Given the description of an element on the screen output the (x, y) to click on. 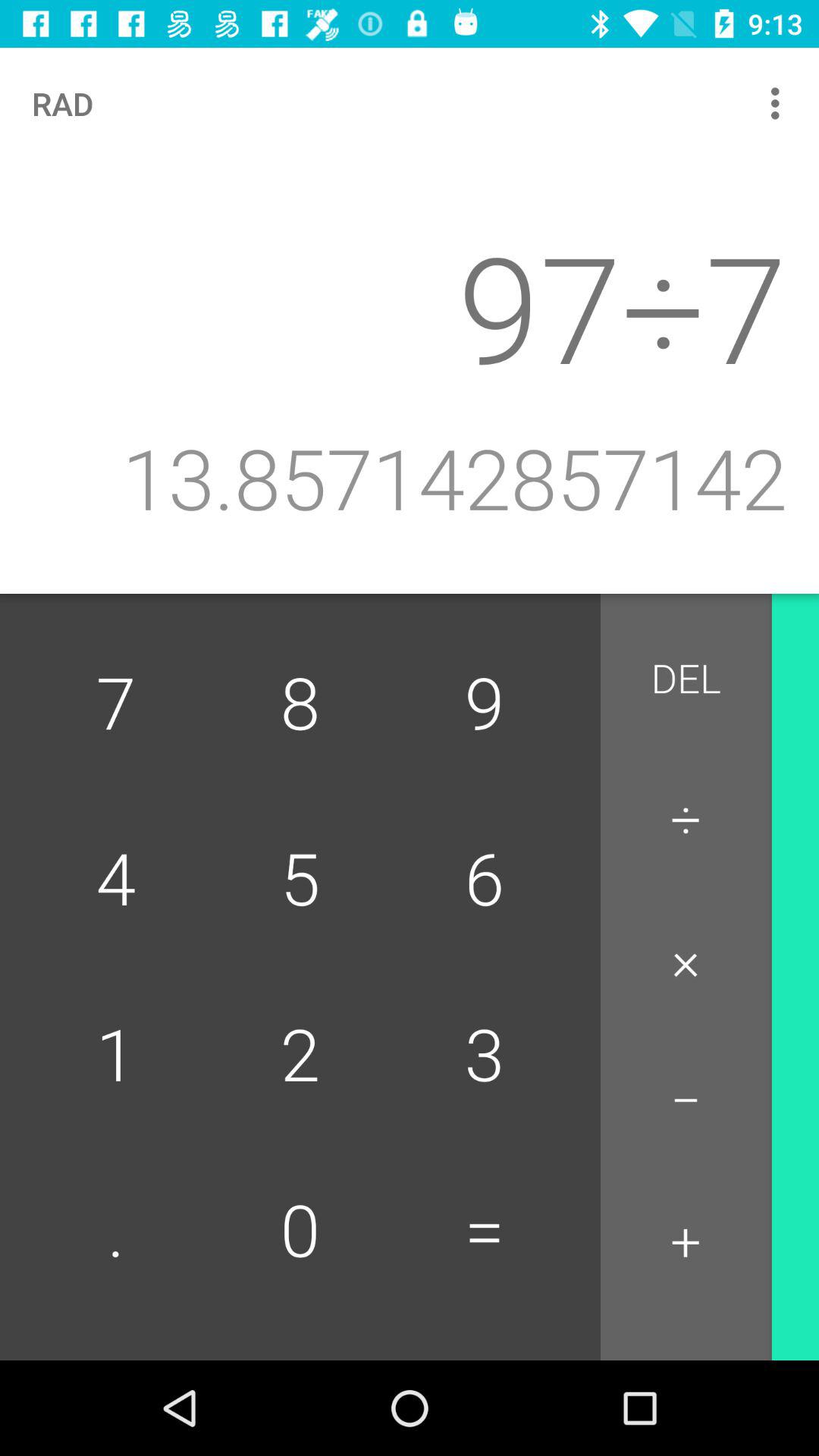
flip until = button (484, 1232)
